Given the description of an element on the screen output the (x, y) to click on. 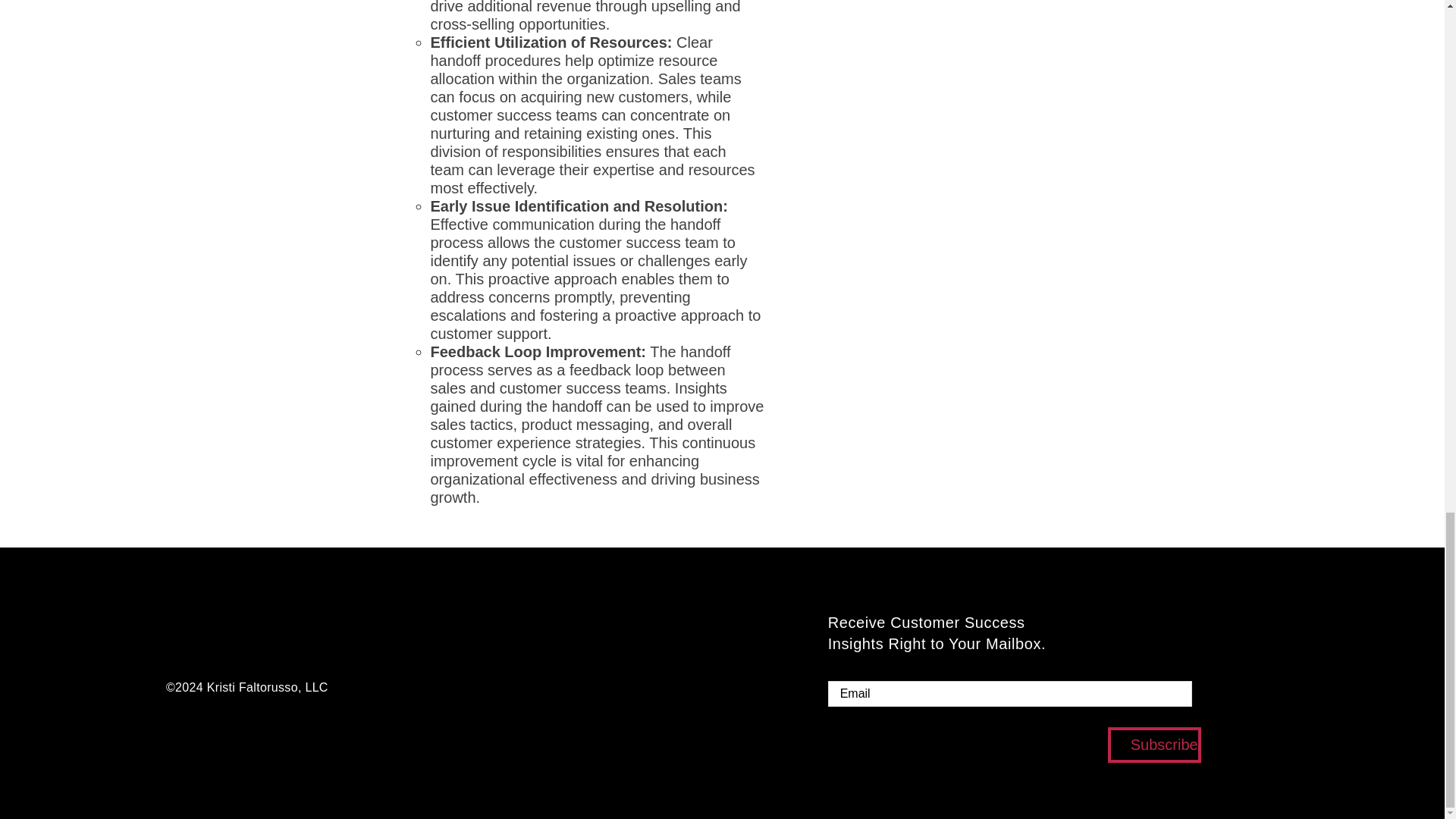
Subscribe (1154, 744)
